Given the description of an element on the screen output the (x, y) to click on. 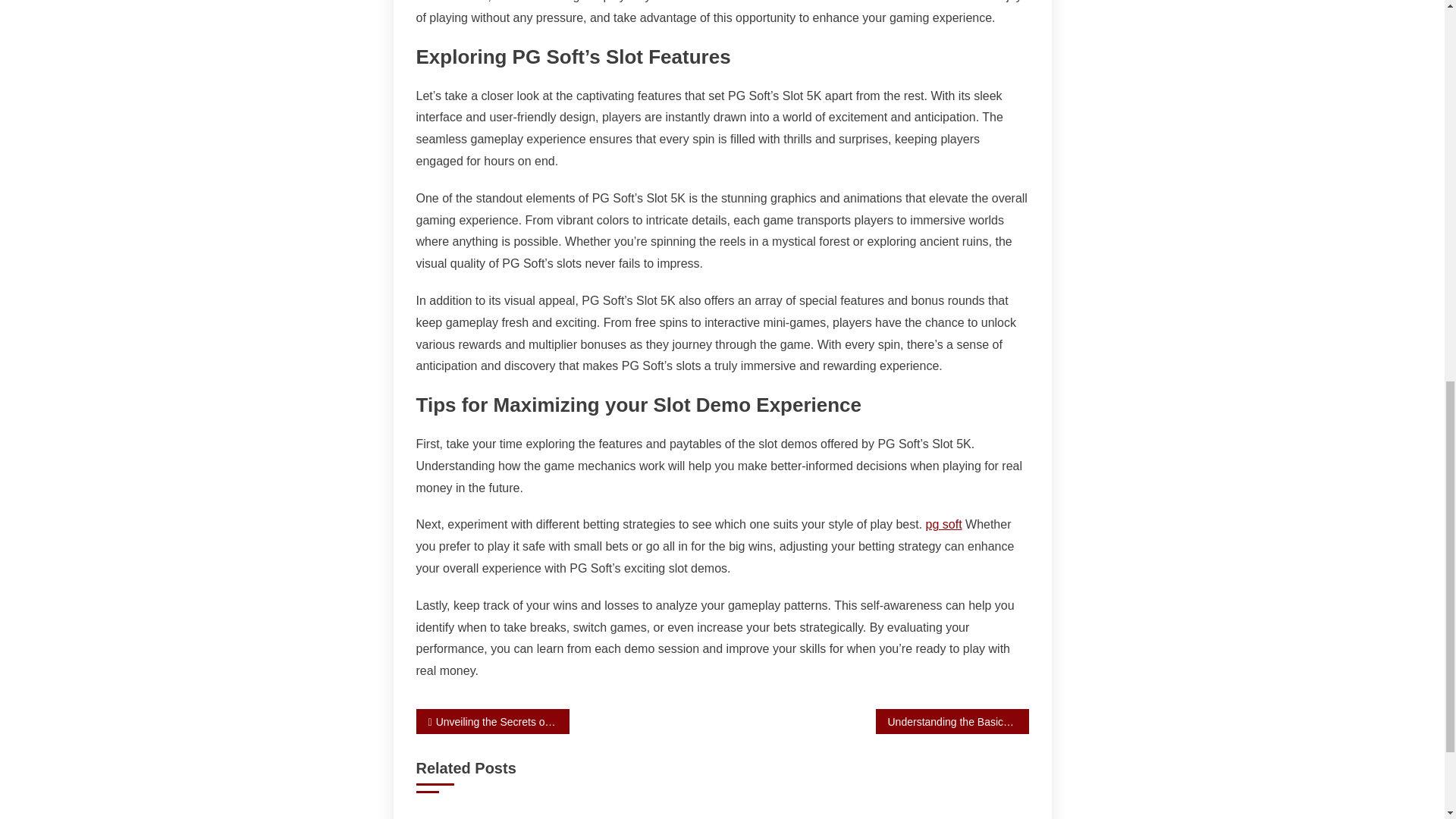
Tips For Playing Slots (929, 817)
Understanding the Basics of Poker (951, 721)
pg soft (944, 523)
What Is A Casino? (721, 817)
What Is A Slot? (513, 817)
